Given the description of an element on the screen output the (x, y) to click on. 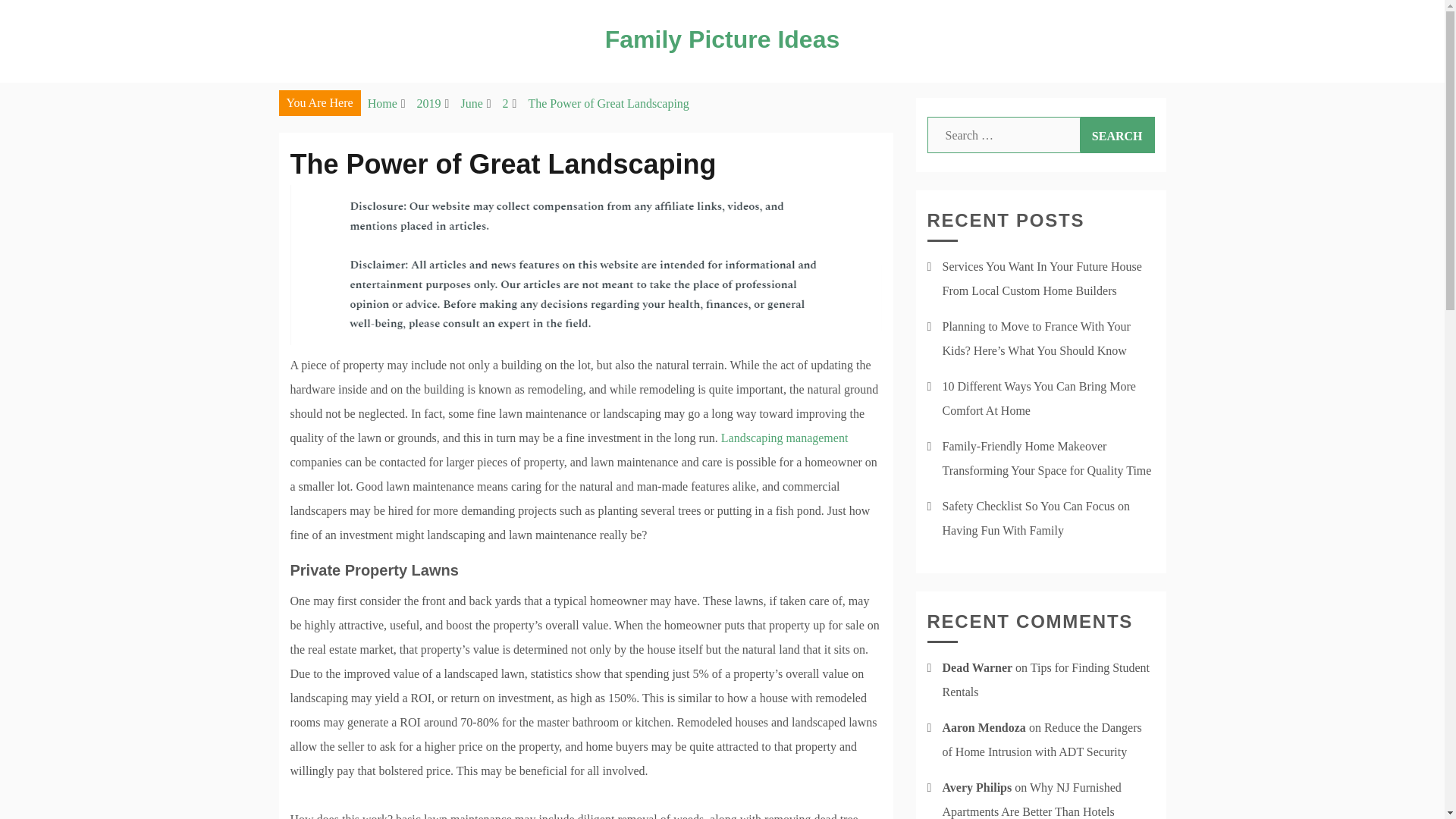
2019 (428, 103)
Landscaping (784, 437)
Search (1117, 135)
Search (1117, 135)
Family Picture Ideas (722, 39)
Home (382, 103)
Aaron Mendoza (983, 727)
June (470, 103)
Why NJ Furnished Apartments Are Better Than Hotels (1031, 799)
Landscaping management (784, 437)
10 Different Ways You Can Bring More Comfort At Home (1038, 398)
Tips for Finding Student Rentals (1046, 679)
Safety Checklist So You Can Focus on Having Fun With Family (1035, 518)
